Given the description of an element on the screen output the (x, y) to click on. 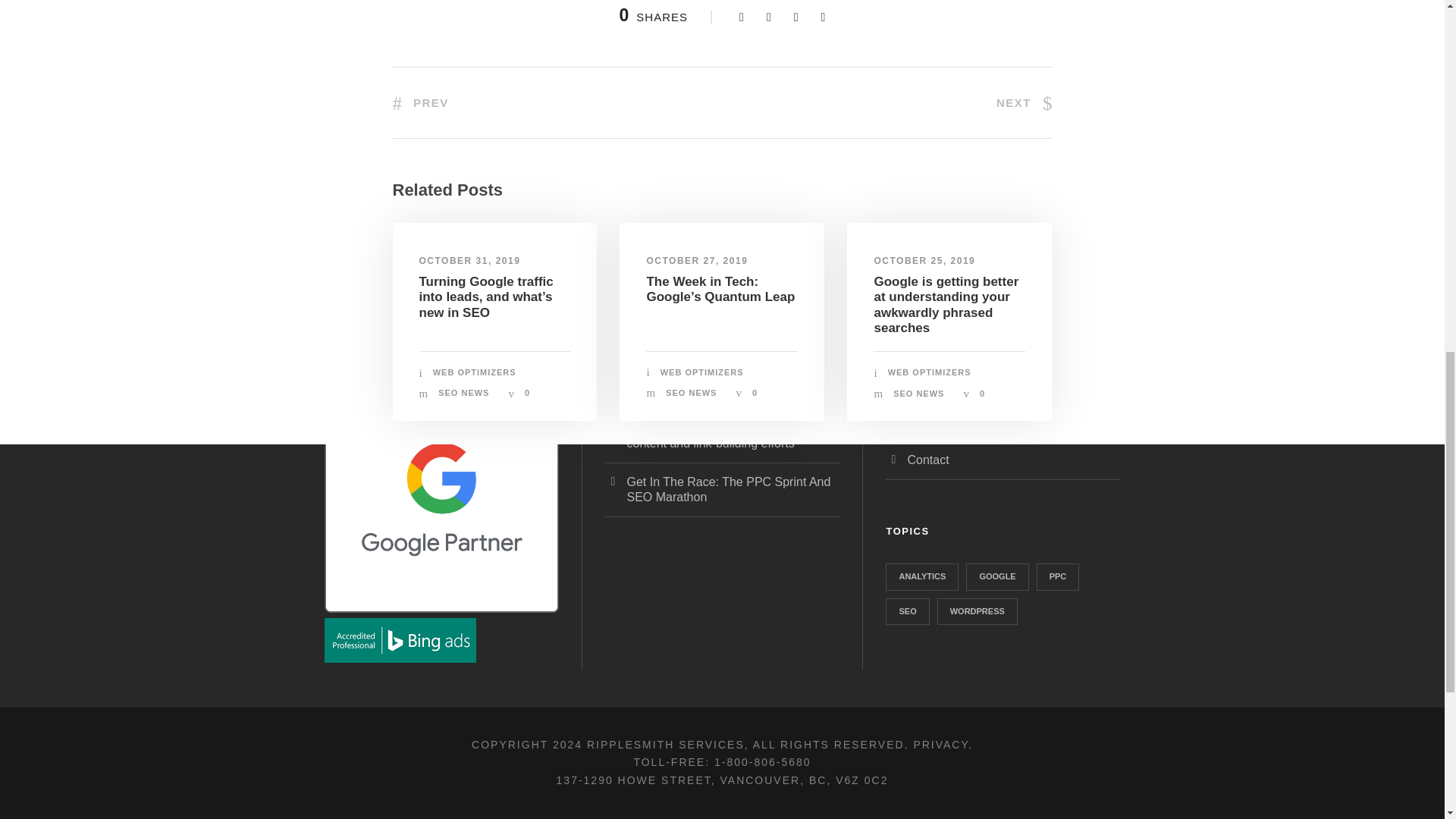
OCTOBER 25, 2019 (924, 260)
Posts by Web Optimizers (474, 371)
OCTOBER 27, 2019 (697, 260)
WEB OPTIMIZERS (929, 371)
Posts by Web Optimizers (702, 371)
OCTOBER 31, 2019 (469, 260)
SEO NEWS (463, 392)
WEB OPTIMIZERS (702, 371)
Posts by Web Optimizers (929, 371)
SEO NEWS (918, 393)
WEB OPTIMIZERS (474, 371)
SEO NEWS (690, 392)
NEXT (1023, 102)
PREV (420, 102)
